Given the description of an element on the screen output the (x, y) to click on. 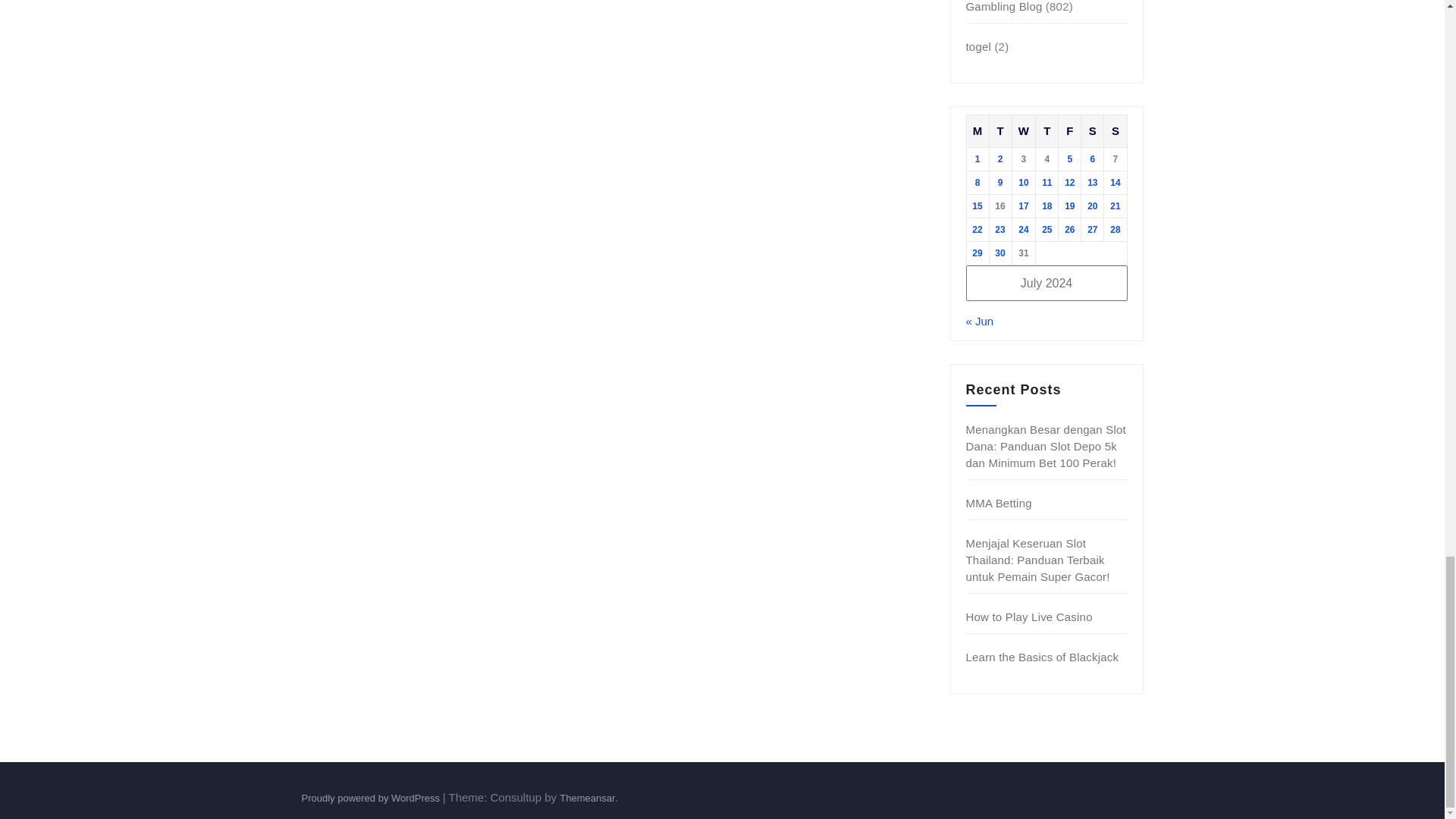
Gambling Blog (1004, 6)
togel (978, 46)
